Given the description of an element on the screen output the (x, y) to click on. 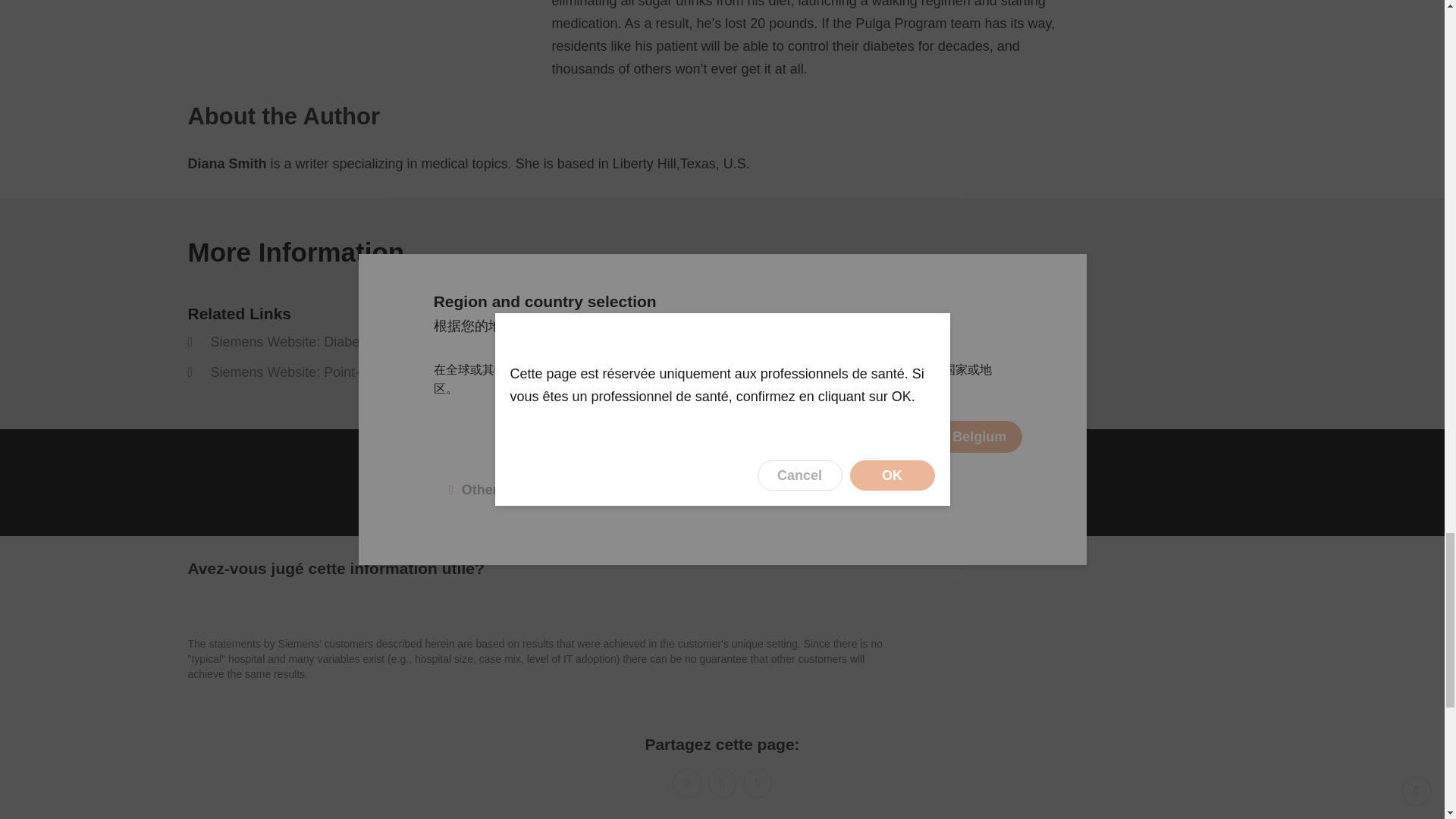
Confirm (17, 548)
